Given the description of an element on the screen output the (x, y) to click on. 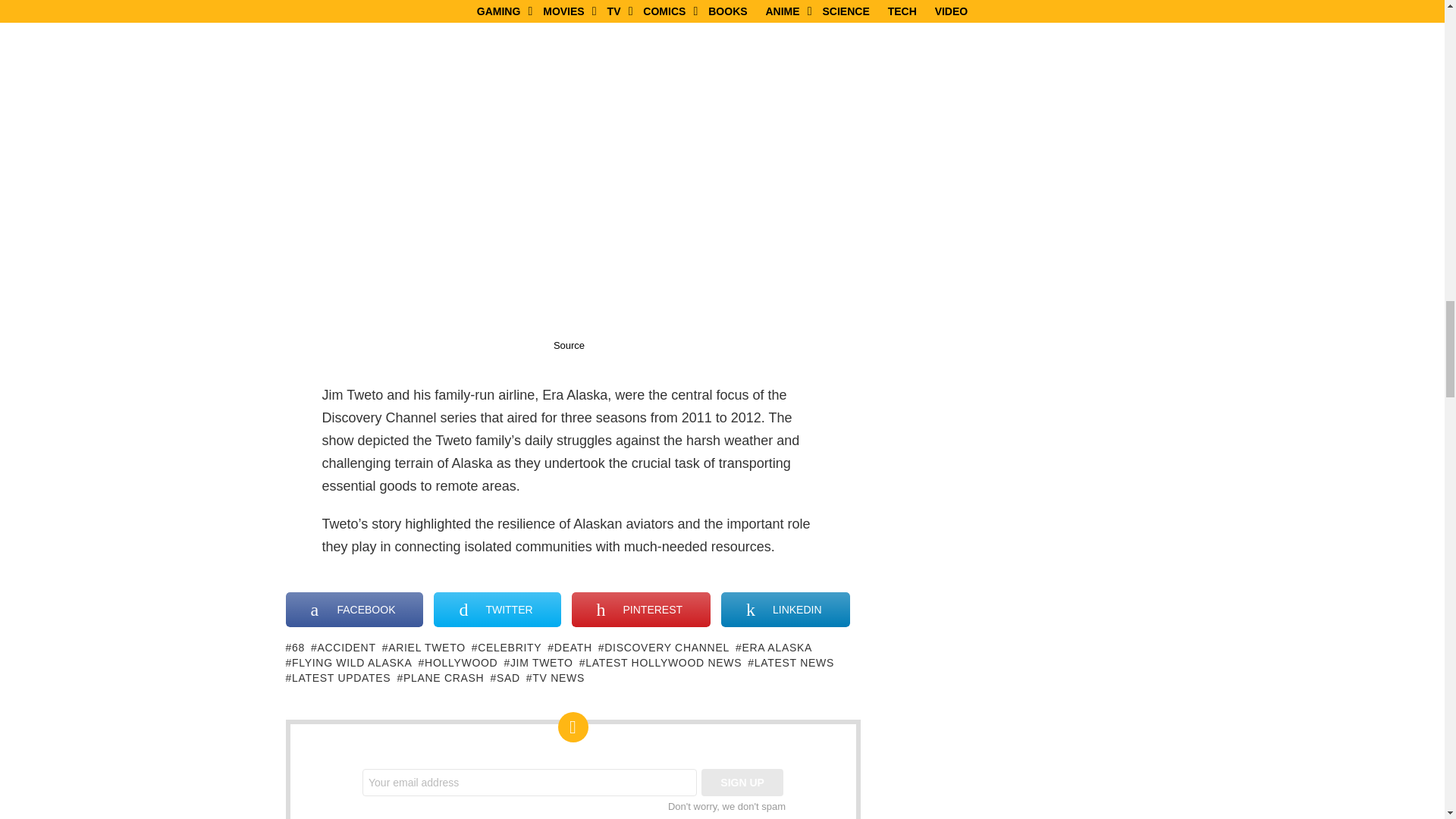
Share on Twitter (496, 609)
Share on LinkedIn (784, 609)
Share on Facebook (354, 609)
Share on Pinterest (641, 609)
Sign up (742, 782)
